Given the description of an element on the screen output the (x, y) to click on. 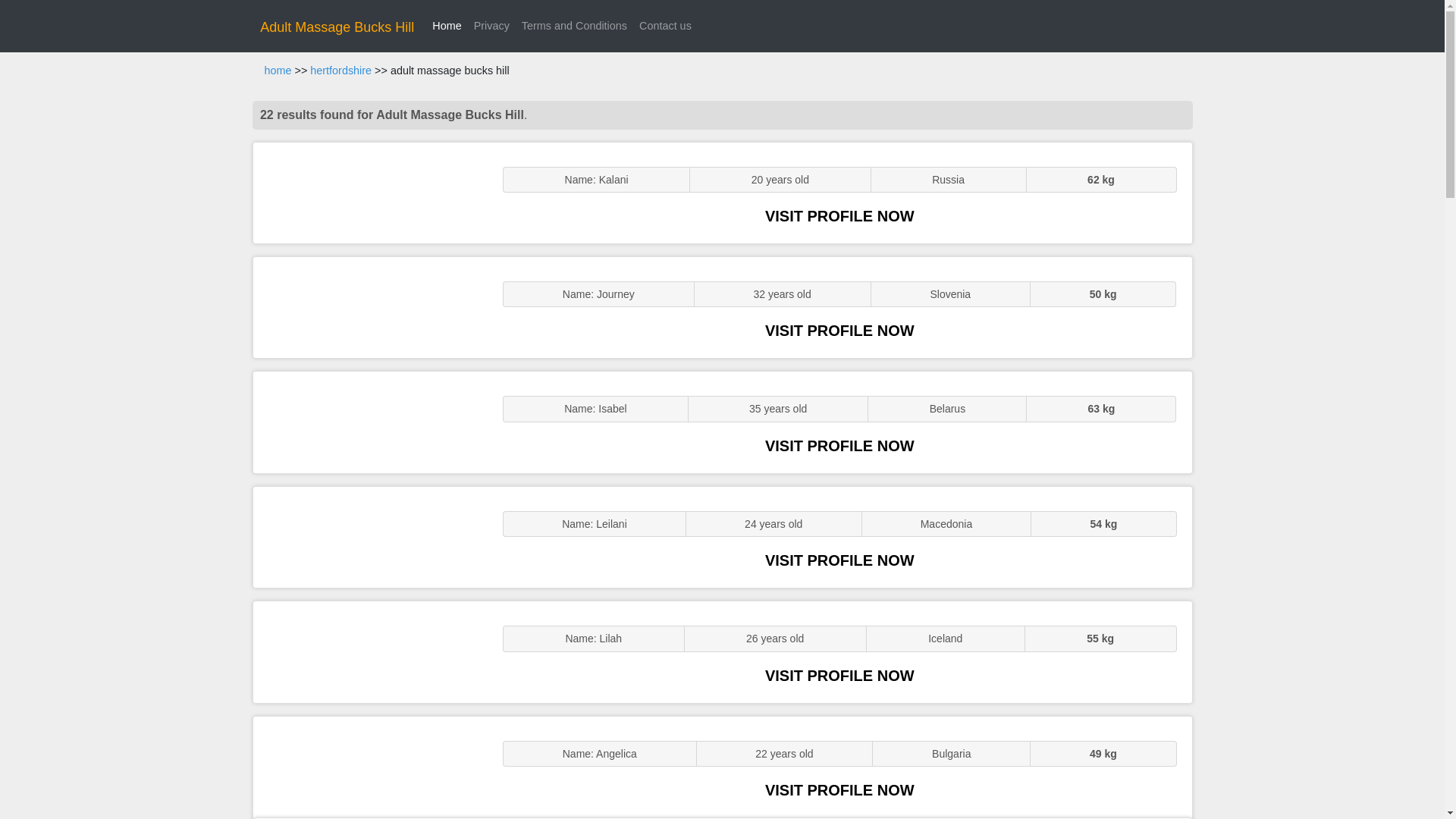
Massage (370, 766)
VISIT PROFILE NOW (839, 216)
Sluts (370, 537)
VISIT PROFILE NOW (839, 330)
GFE (370, 307)
VISIT PROFILE NOW (839, 675)
Terms and Conditions (574, 25)
home (277, 70)
Sluts (370, 651)
Sexy (370, 421)
VISIT PROFILE NOW (839, 560)
VISIT PROFILE NOW (839, 445)
Adult Massage Bucks Hill (336, 27)
 ENGLISH STUNNER (370, 192)
Contact us (665, 25)
